Given the description of an element on the screen output the (x, y) to click on. 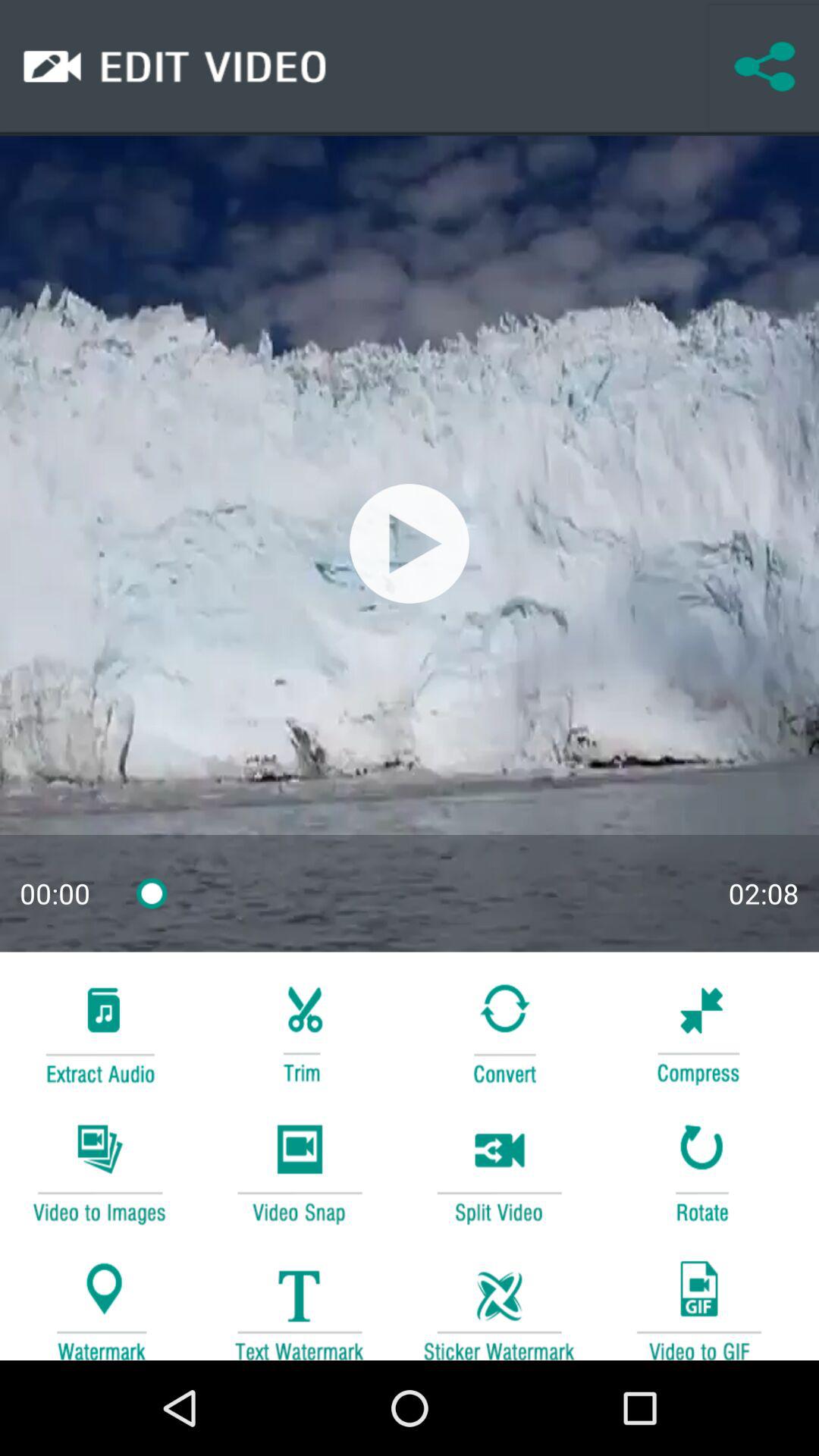
location to see (99, 1303)
